Given the description of an element on the screen output the (x, y) to click on. 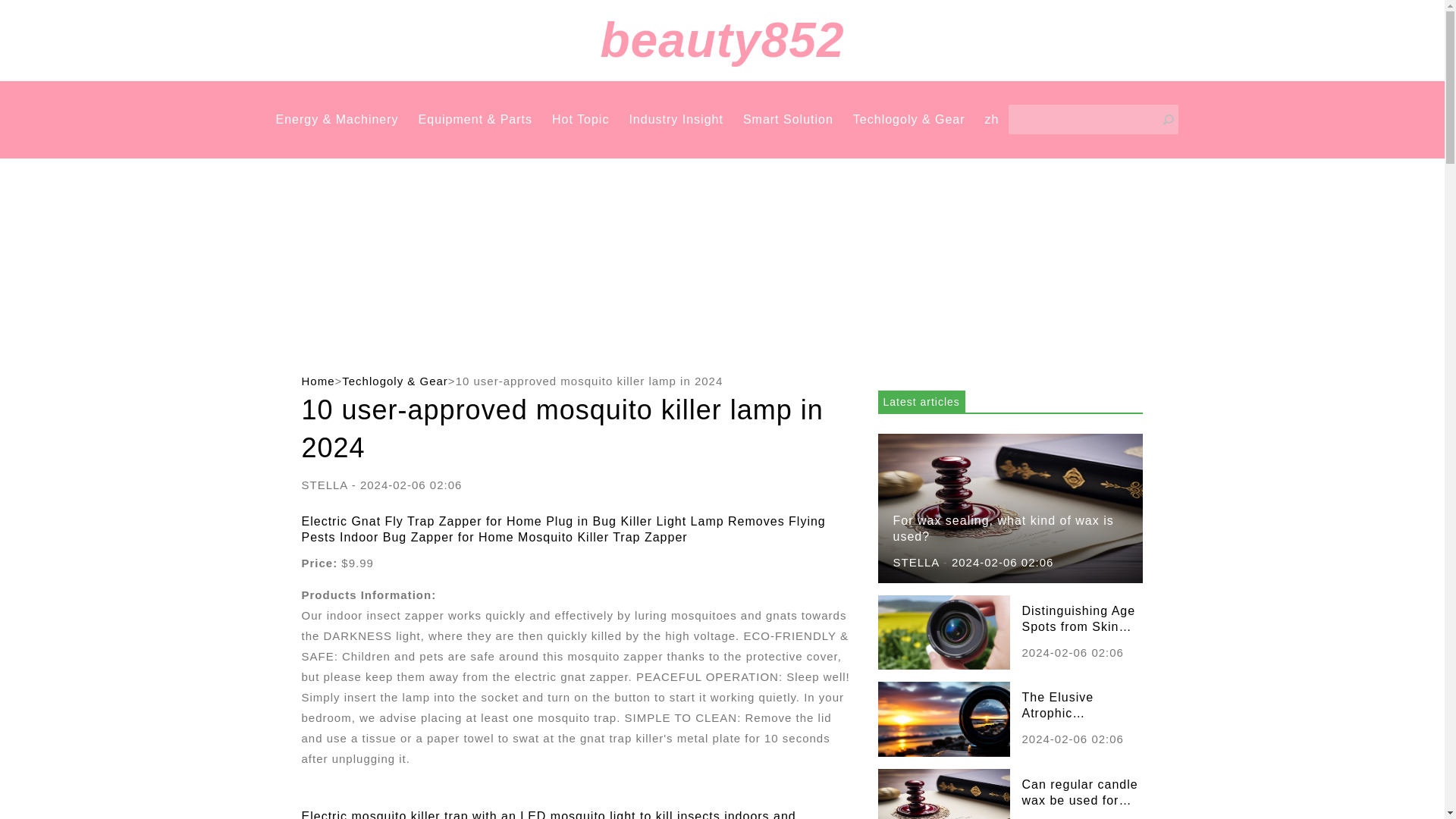
zh (991, 119)
Industry Insight (675, 119)
For wax sealing, what kind of wax is used? (1009, 506)
10 user-approved mosquito killer lamp in 2024 (589, 380)
STELLA (324, 484)
Smart Solution (787, 119)
Hot Topic (579, 119)
STELLA (916, 562)
